Given the description of an element on the screen output the (x, y) to click on. 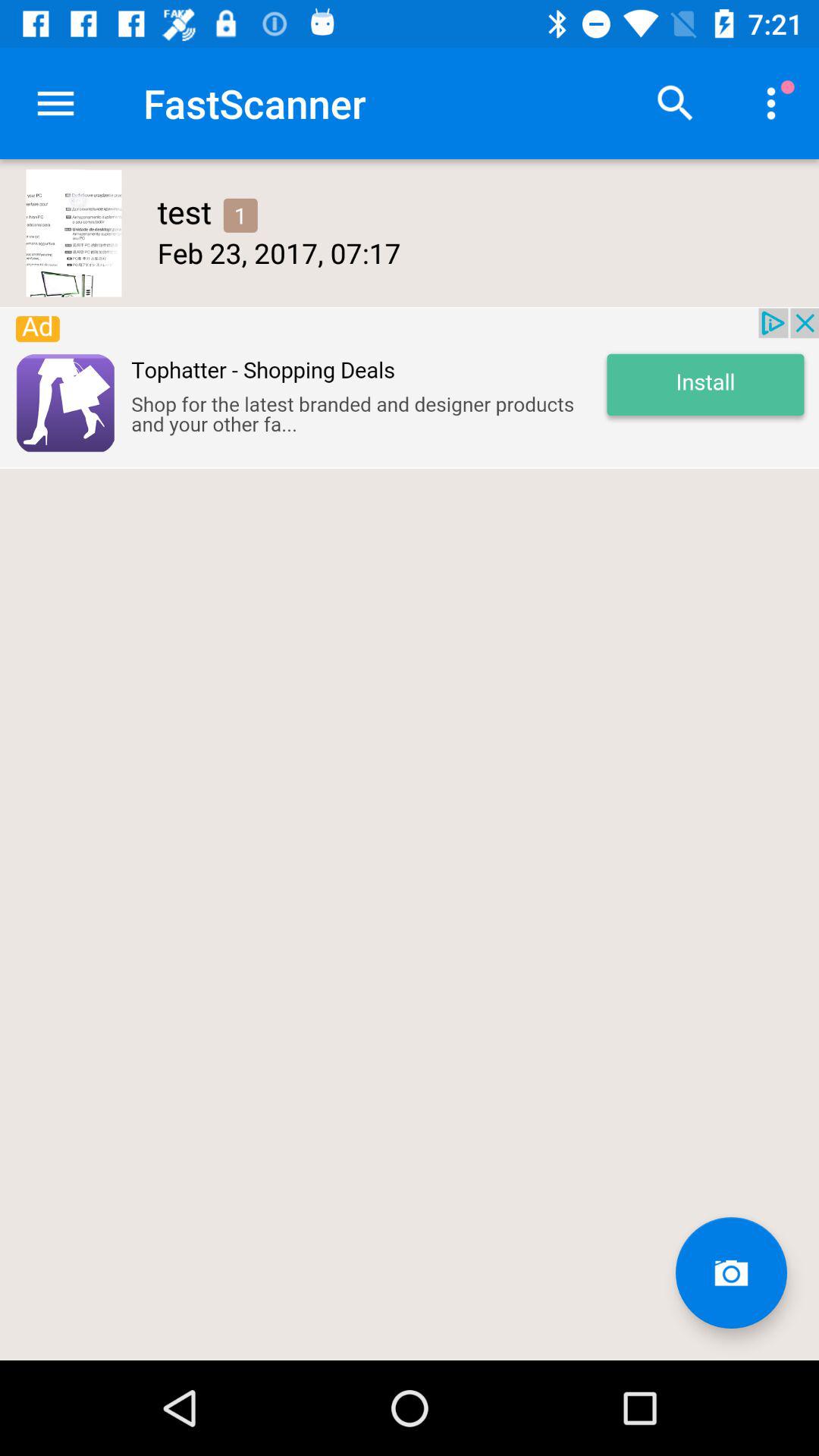
open menu (55, 103)
